Given the description of an element on the screen output the (x, y) to click on. 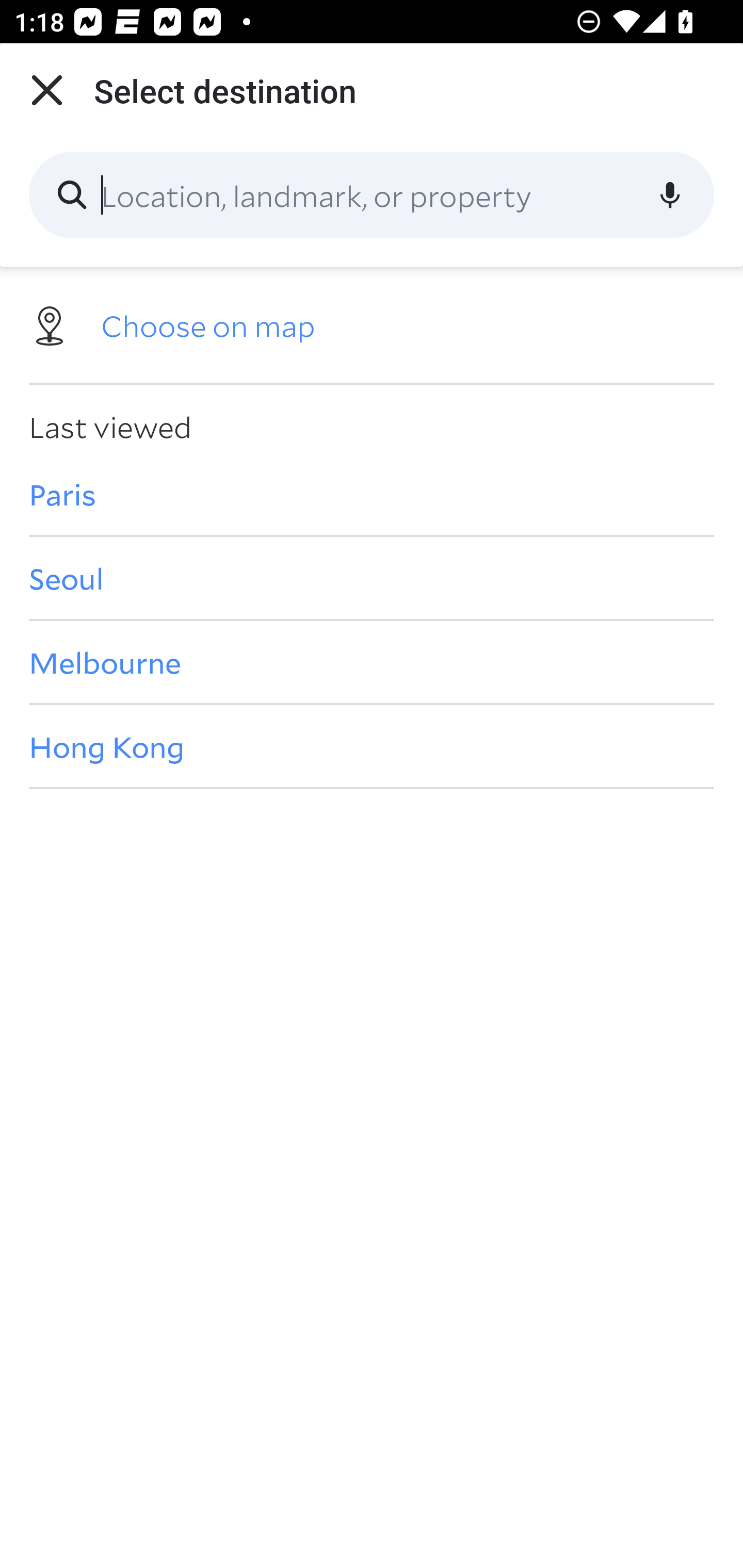
Location, landmark, or property (371, 195)
Choose on map (371, 324)
Paris (371, 493)
Seoul (371, 577)
Melbourne (371, 661)
Hong Kong (371, 746)
